Given the description of an element on the screen output the (x, y) to click on. 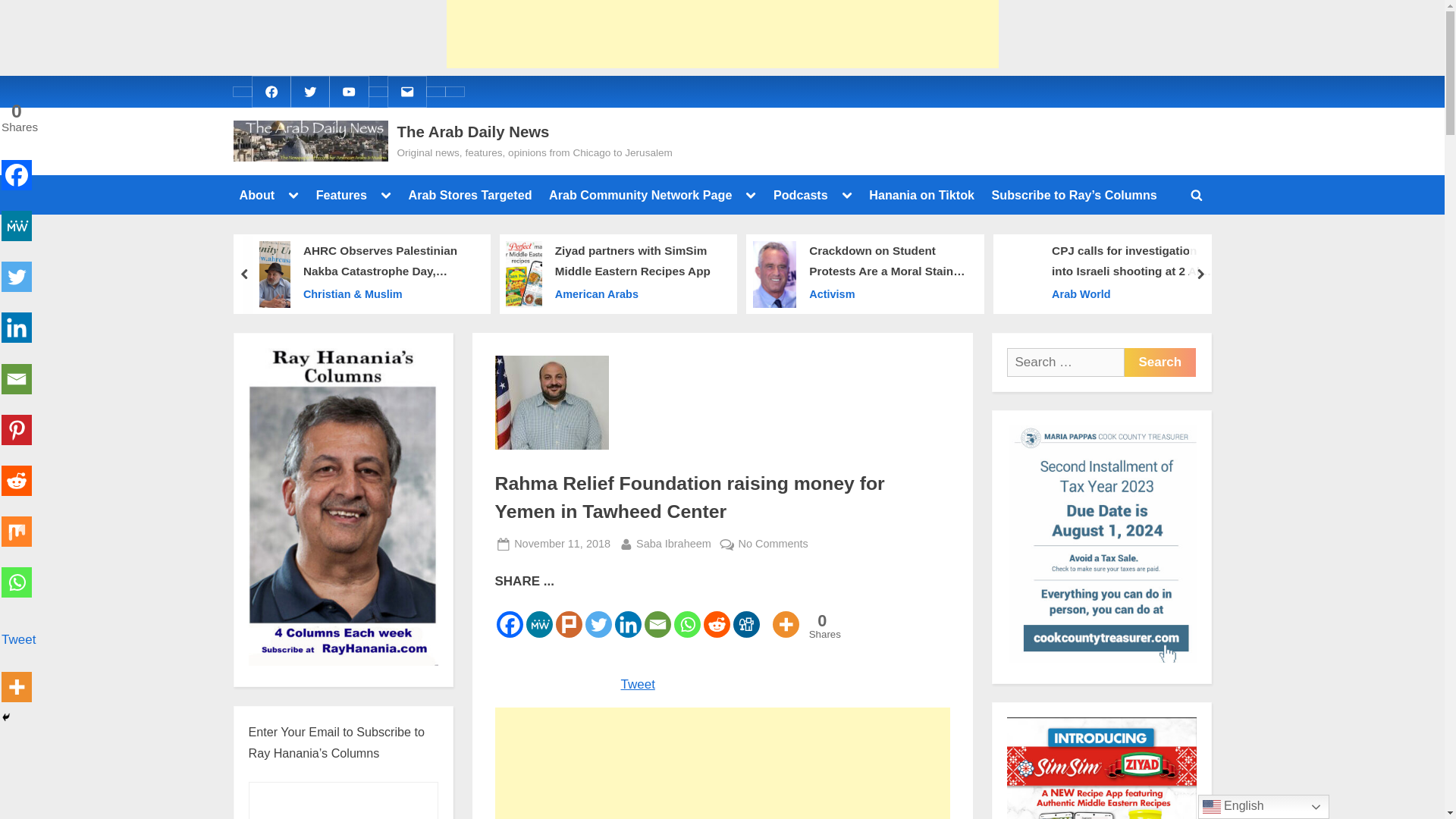
Email (406, 91)
Youtube (348, 91)
Arab Community Network Page (640, 194)
Email (406, 91)
Toggle sub-menu (750, 194)
Toggle sub-menu (385, 194)
About (256, 194)
Search (1159, 362)
Features (341, 194)
Toggle sub-menu (293, 194)
Total Shares (822, 625)
Search (1159, 362)
Twitter (309, 91)
The Arab Daily News (473, 131)
Arab Stores Targeted (470, 194)
